Given the description of an element on the screen output the (x, y) to click on. 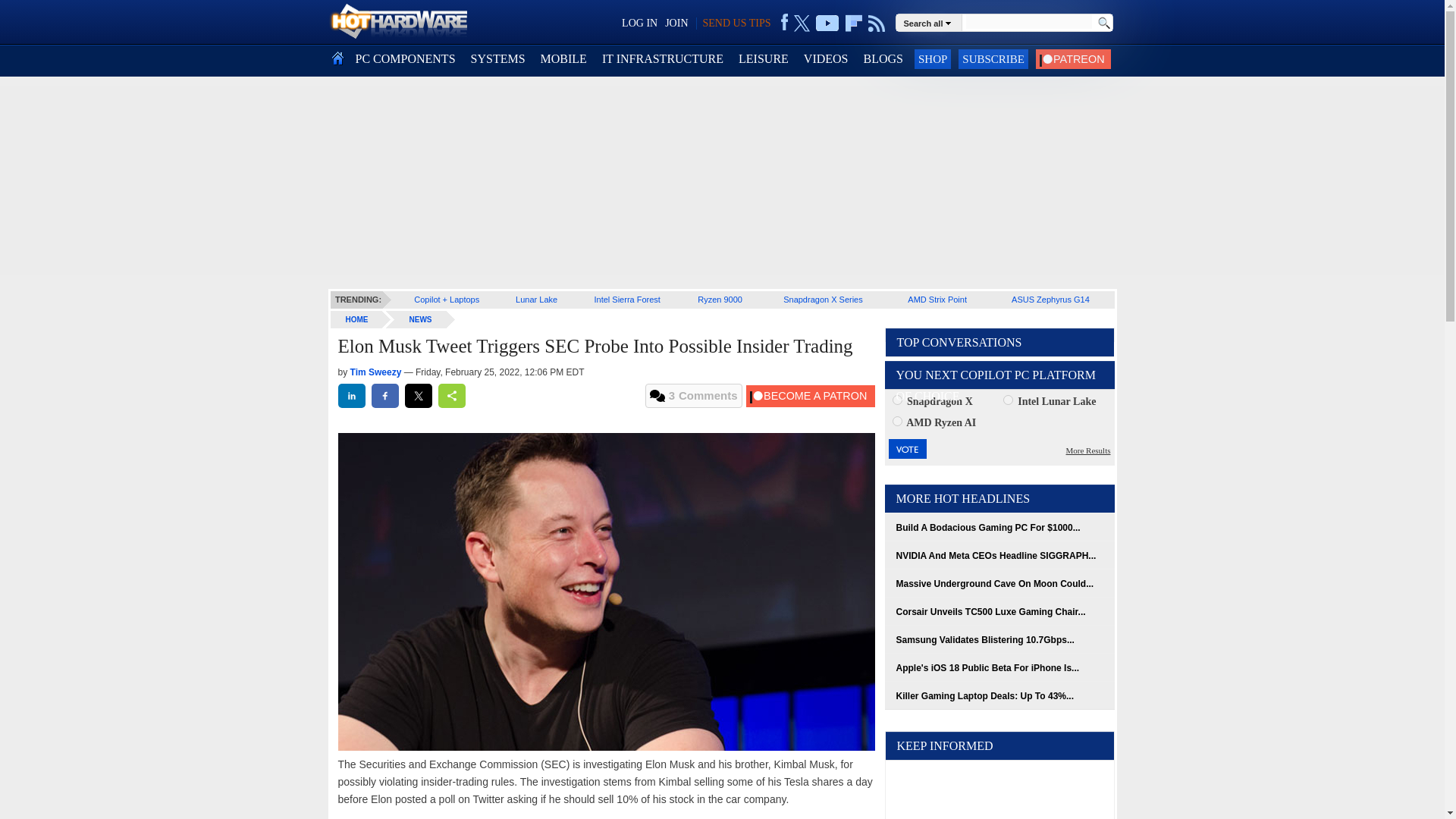
PC COMPONENTS (405, 58)
Go (1103, 22)
Search all (929, 22)
SEND US TIPS (735, 22)
SIGN OUT (39, 18)
759 (896, 420)
Go (1103, 22)
Go (1103, 22)
Blogs (883, 58)
LOG IN (639, 22)
JOIN (676, 22)
keyword (1028, 21)
757 (896, 399)
Comments (693, 395)
